Given the description of an element on the screen output the (x, y) to click on. 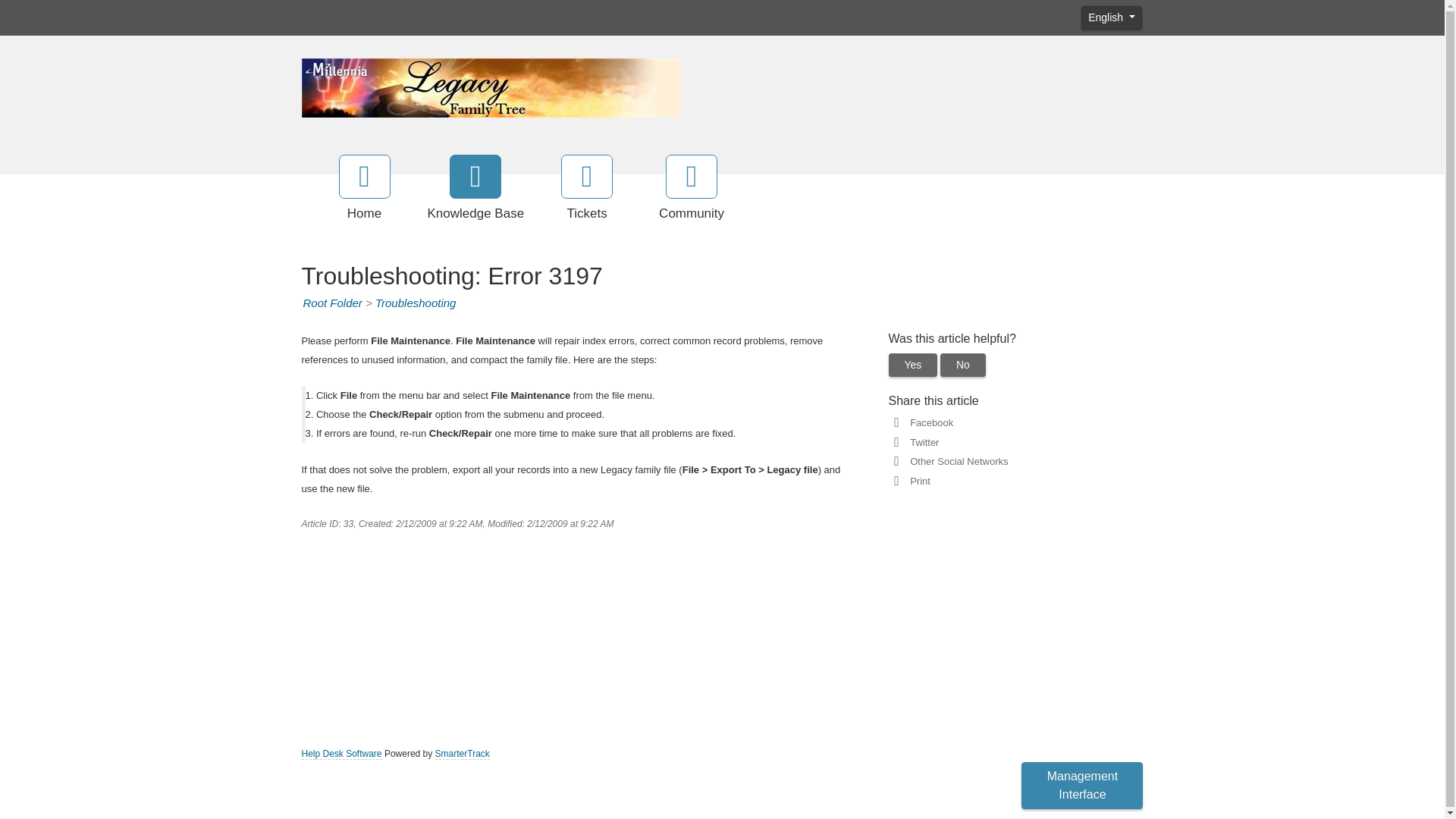
Yes (912, 364)
Legacy Family Tree (491, 86)
Troubleshooting (415, 302)
Knowledge Base (476, 188)
Community (691, 188)
Tickets (586, 188)
Facebook (928, 422)
Root Folder (332, 302)
English (1111, 17)
Twitter (921, 441)
Other Social Networks (955, 460)
Home (364, 188)
No (962, 364)
